Given the description of an element on the screen output the (x, y) to click on. 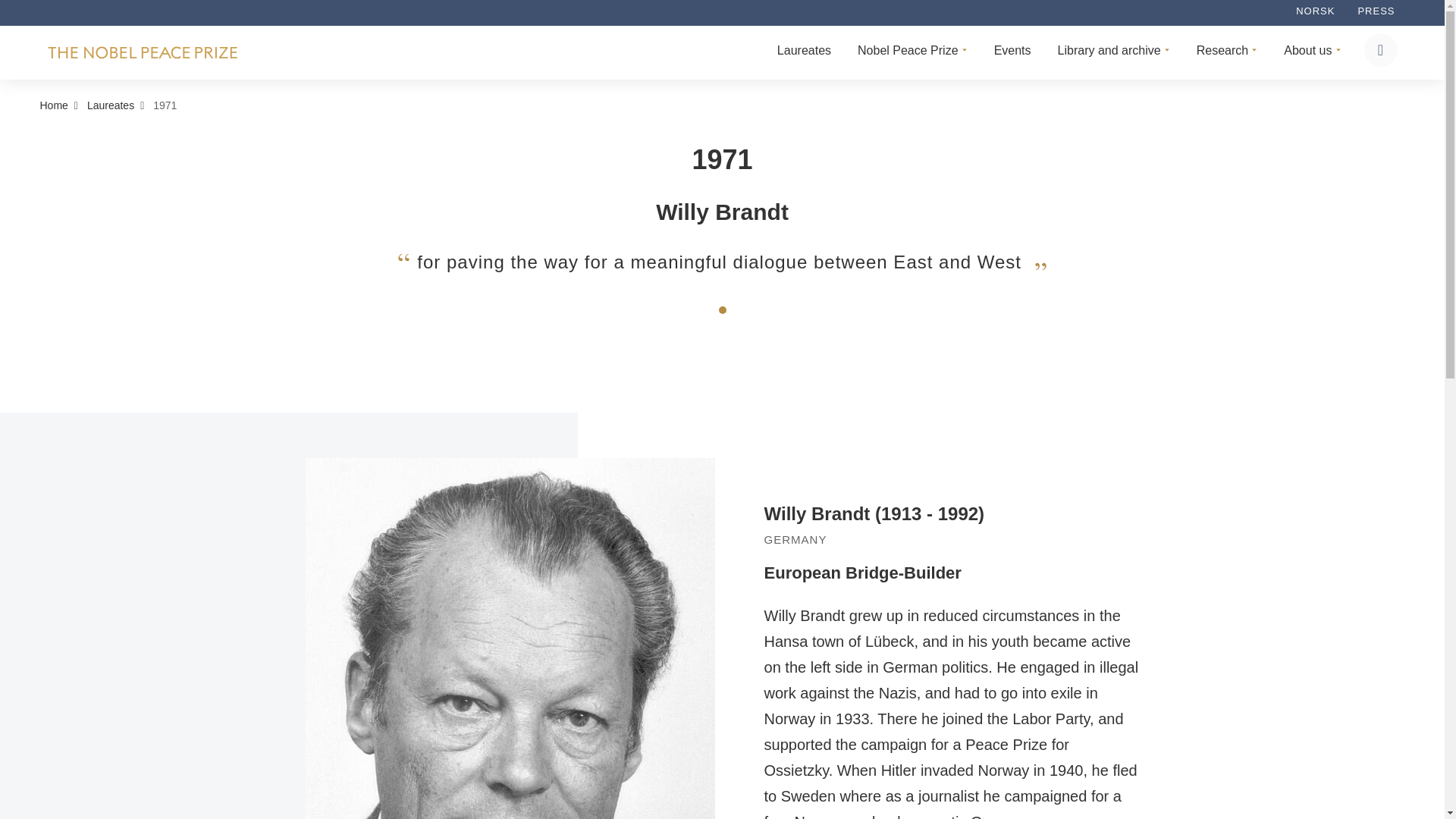
Research (1224, 53)
About us (1310, 53)
NORSK (1315, 11)
Home (52, 105)
PRESS (1375, 11)
Events (1010, 53)
Nobel Peace Prize (910, 53)
Laureates (802, 53)
